Given the description of an element on the screen output the (x, y) to click on. 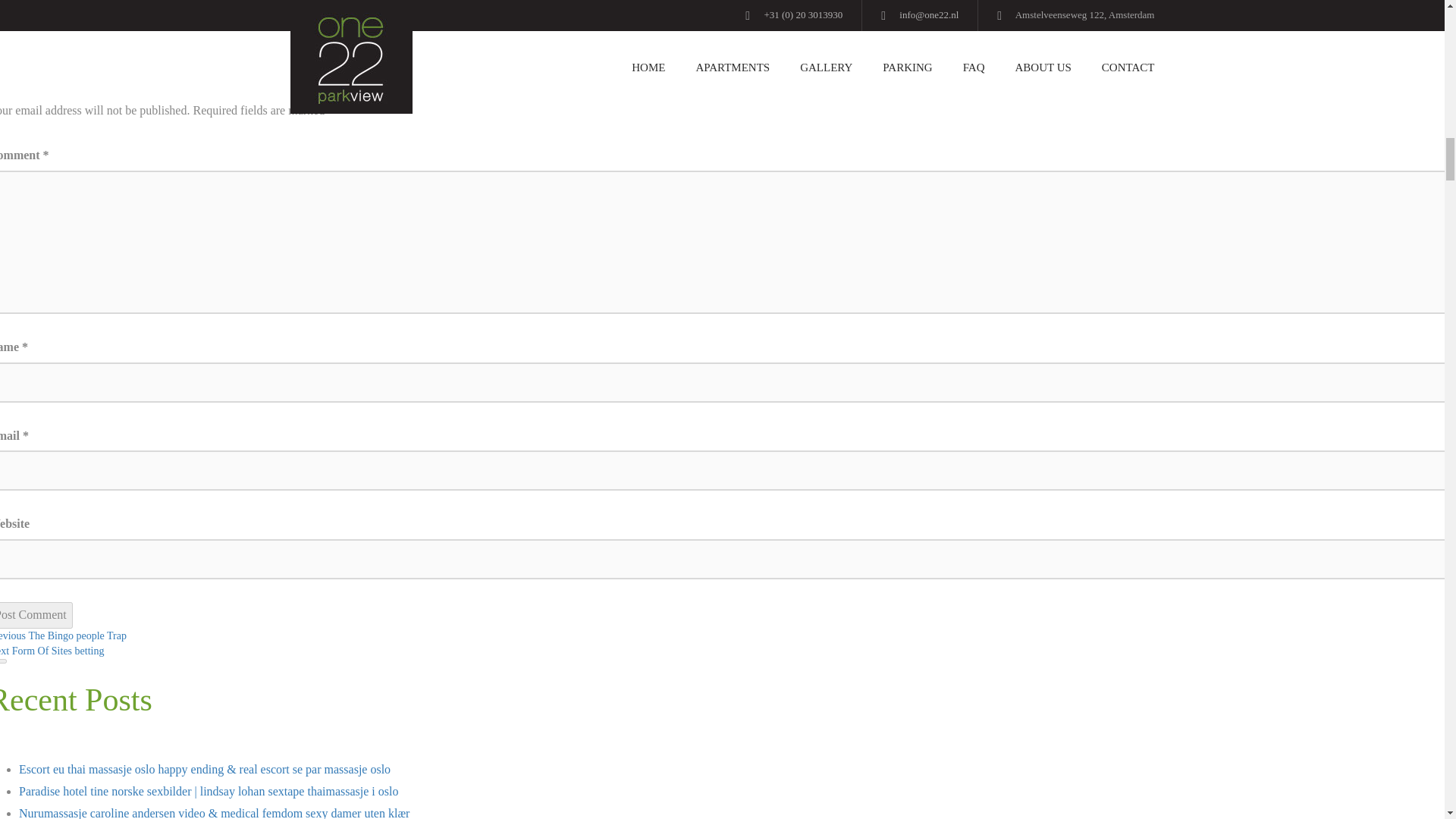
Search (63, 635)
Post Comment (36, 614)
